Given the description of an element on the screen output the (x, y) to click on. 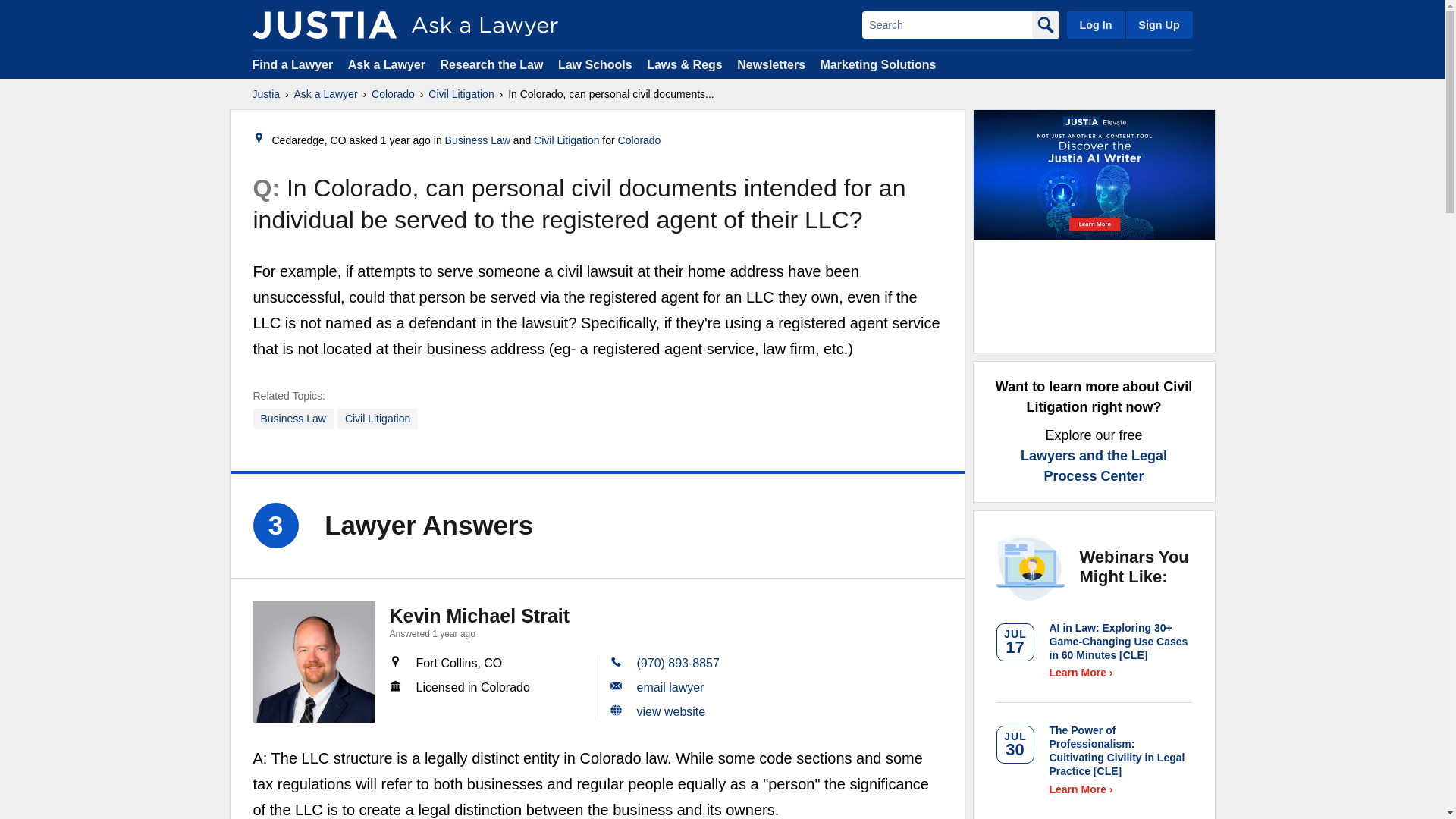
2022-11-06T10:19:46-08:00 (405, 140)
Justia (265, 93)
Kevin Michael Strait (313, 661)
Sign Up (1158, 24)
Business Law (293, 418)
Civil Litigation (460, 93)
Civil Litigation (377, 418)
Newsletters (770, 64)
Business Law (478, 140)
Ask a Lawyer (388, 64)
Justia (323, 24)
Colorado (392, 93)
view website (671, 711)
Marketing Solutions (877, 64)
Log In (1094, 24)
